Given the description of an element on the screen output the (x, y) to click on. 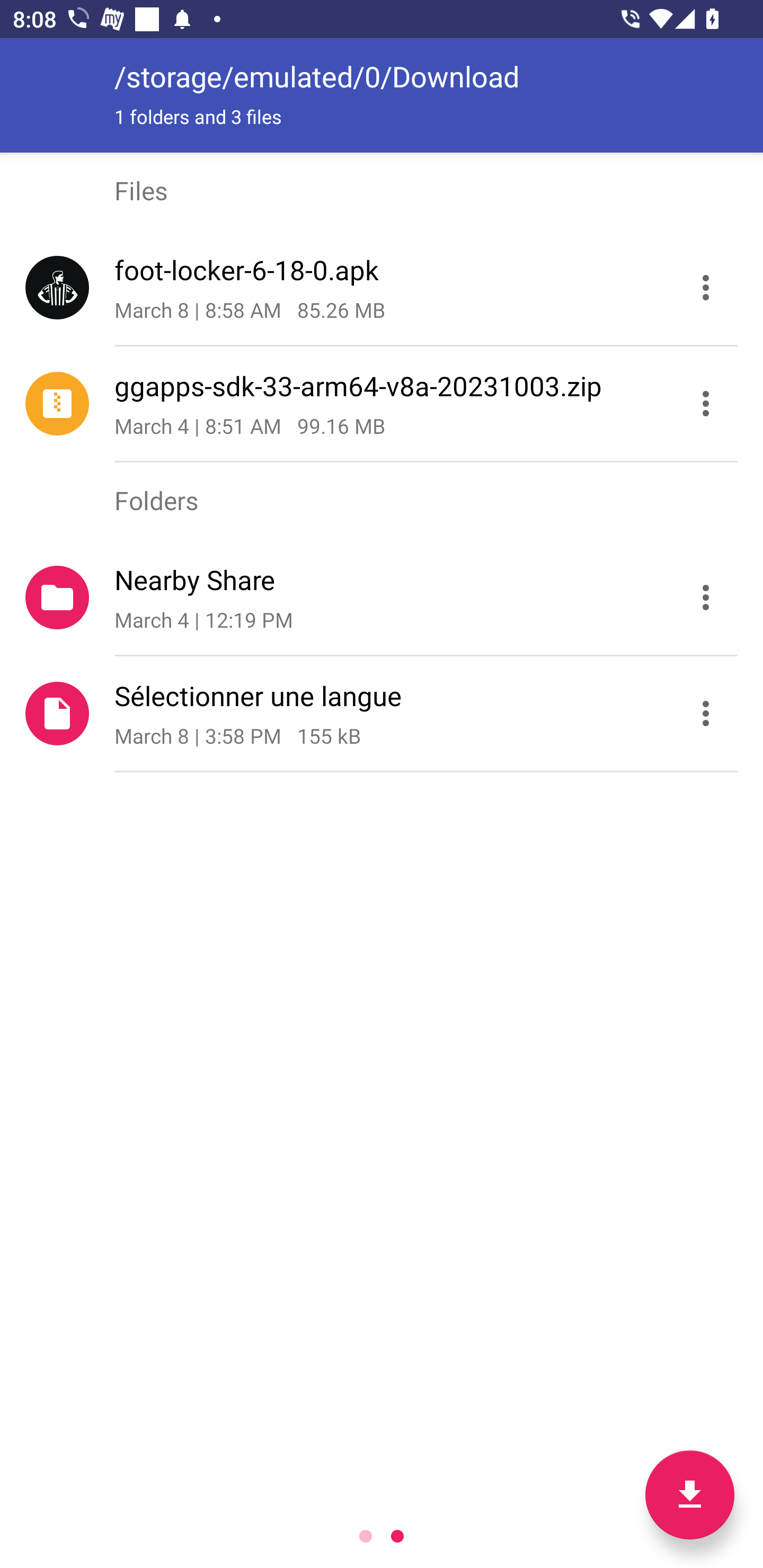
foot-locker-6-18-0.apk March 8 | 8:58 AM 85.26 MB (381, 287)
Nearby Share March 4 | 12:19 PM (381, 597)
Sélectionner une langue March 8 | 3:58 PM 155 kB (381, 713)
